Given the description of an element on the screen output the (x, y) to click on. 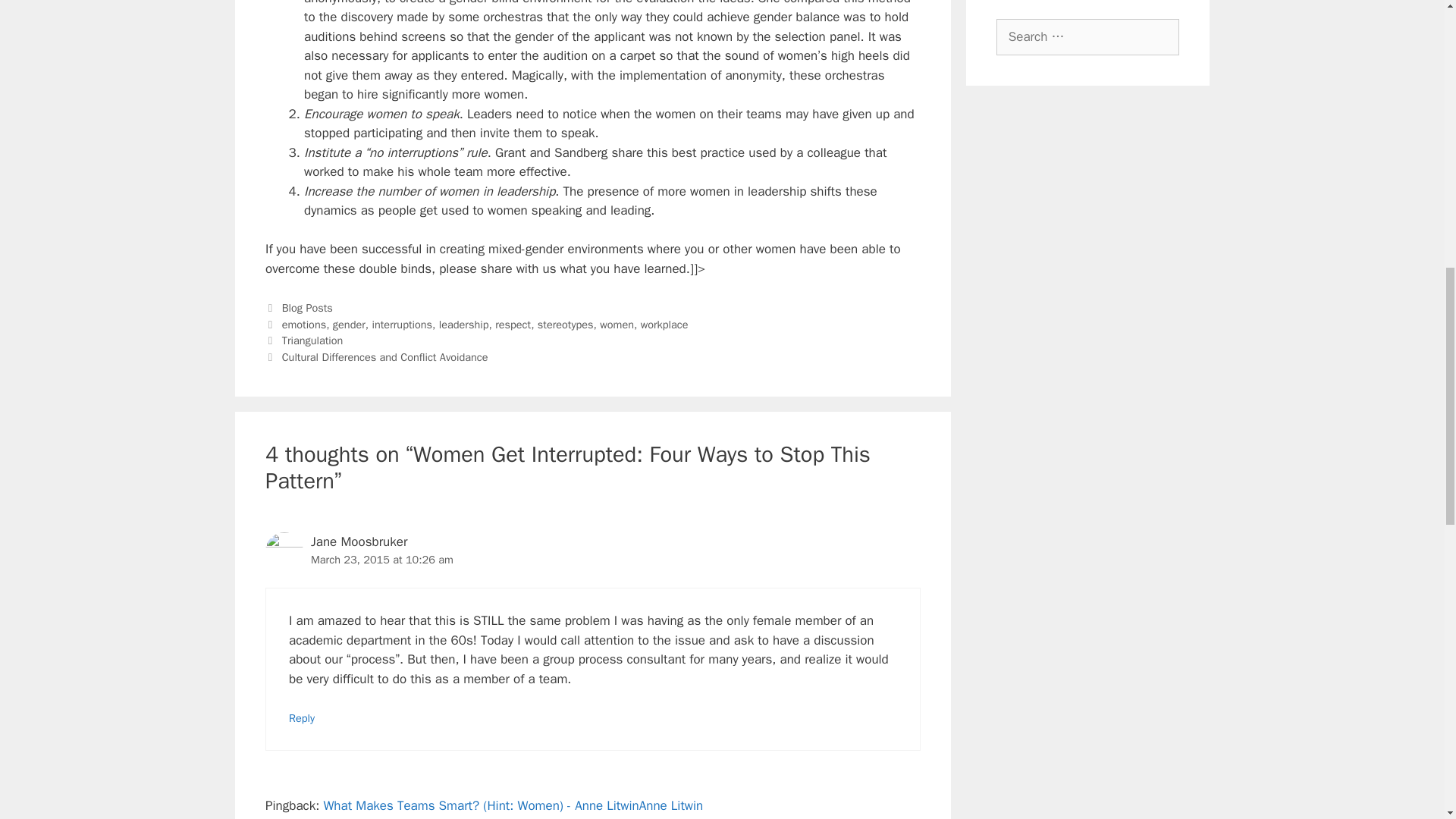
stereotypes (565, 324)
respect (513, 324)
gender (349, 324)
women (616, 324)
leadership (464, 324)
Blog Posts (307, 307)
emotions (304, 324)
interruptions (401, 324)
